Given the description of an element on the screen output the (x, y) to click on. 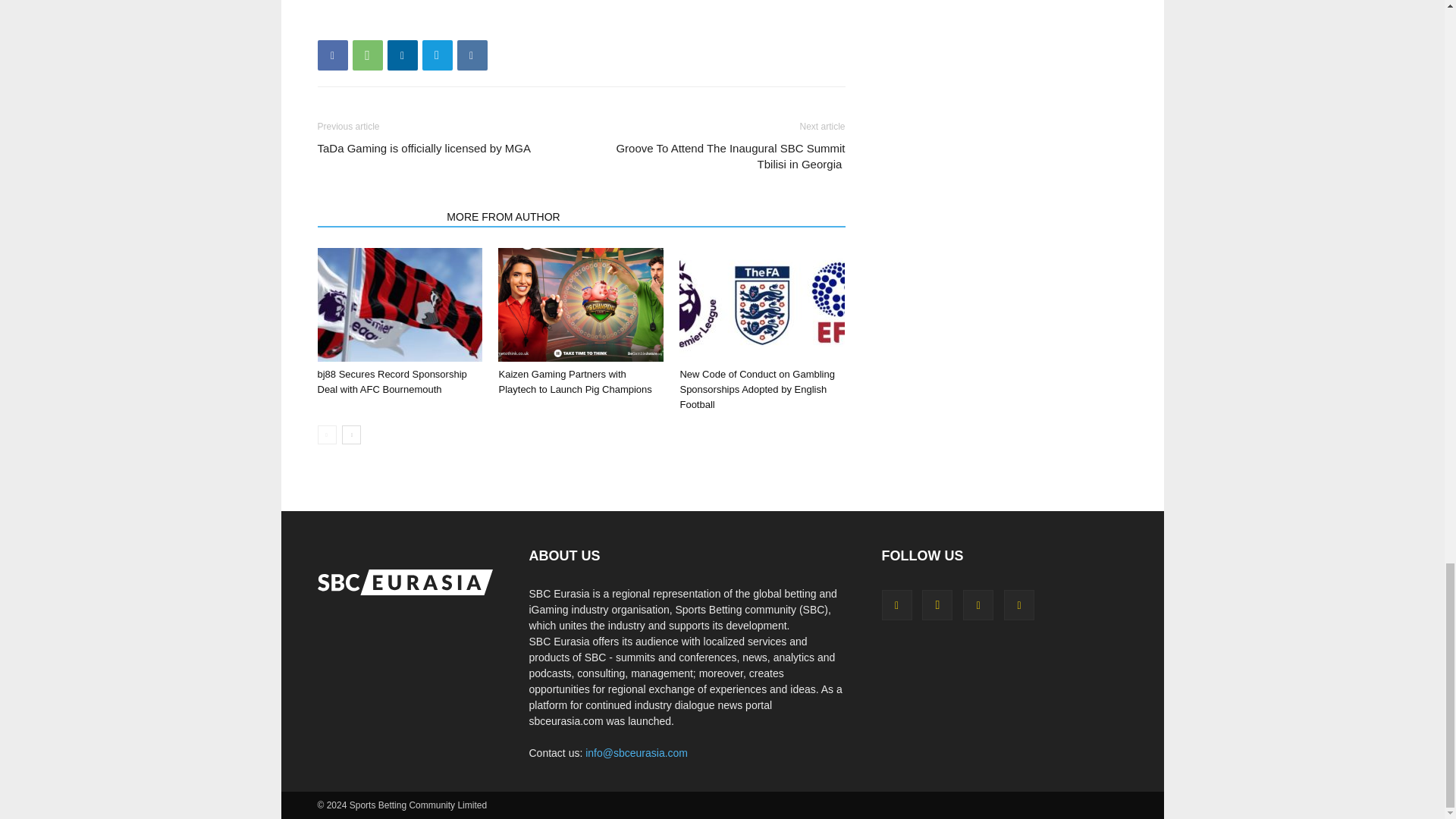
bottomFacebookLike (430, 21)
